Given the description of an element on the screen output the (x, y) to click on. 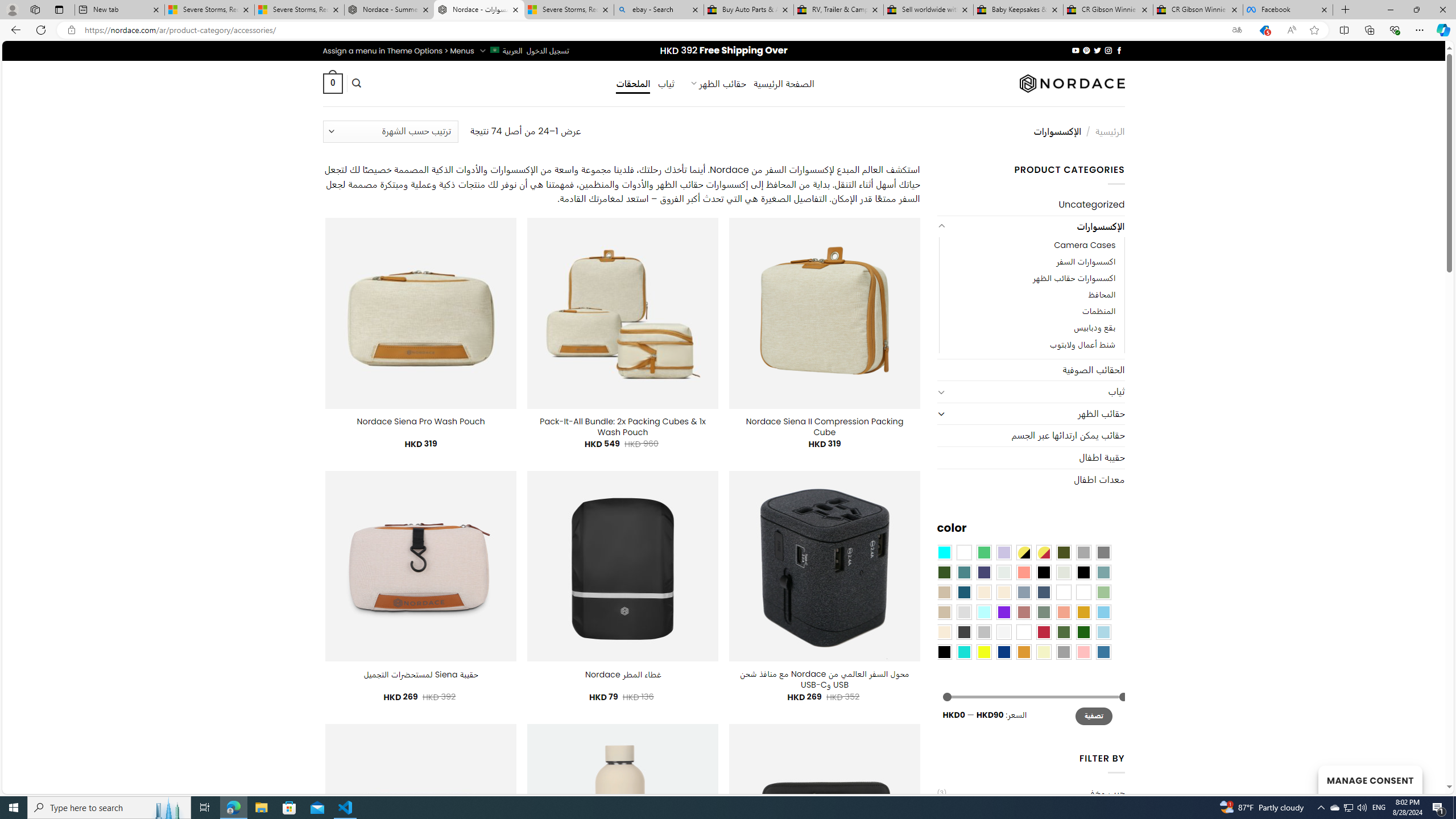
Browser essentials (1394, 29)
Mint (983, 611)
This site has coupons! Shopping in Microsoft Edge, 5 (1263, 29)
Follow on YouTube (1074, 50)
Dull Nickle (1003, 572)
Add this page to favorites (Ctrl+D) (1314, 29)
Assign a menu in Theme Options > Menus (397, 50)
Show translate options (1236, 29)
